Given the description of an element on the screen output the (x, y) to click on. 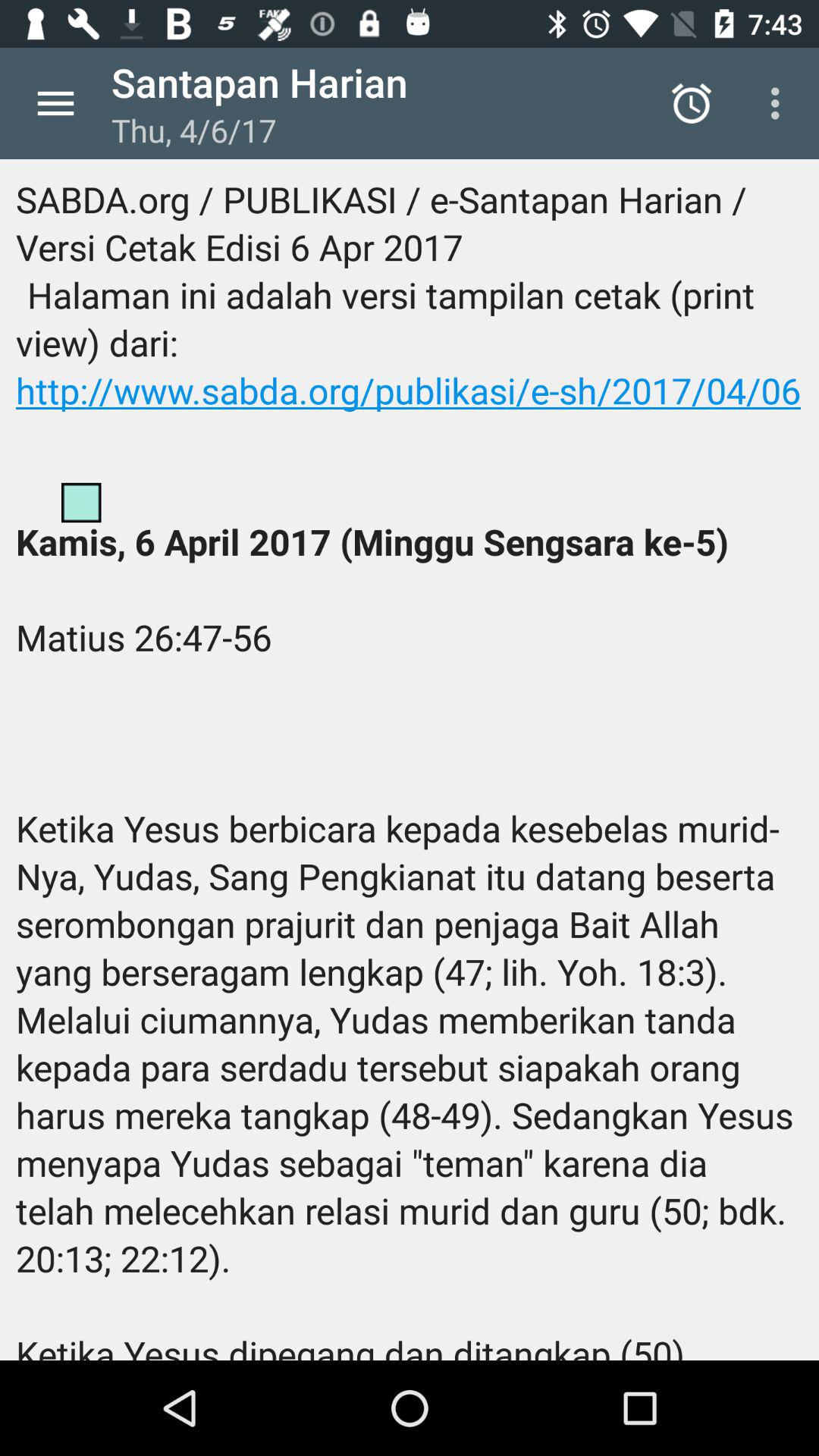
tap the sabda org publikasi icon (409, 759)
